Given the description of an element on the screen output the (x, y) to click on. 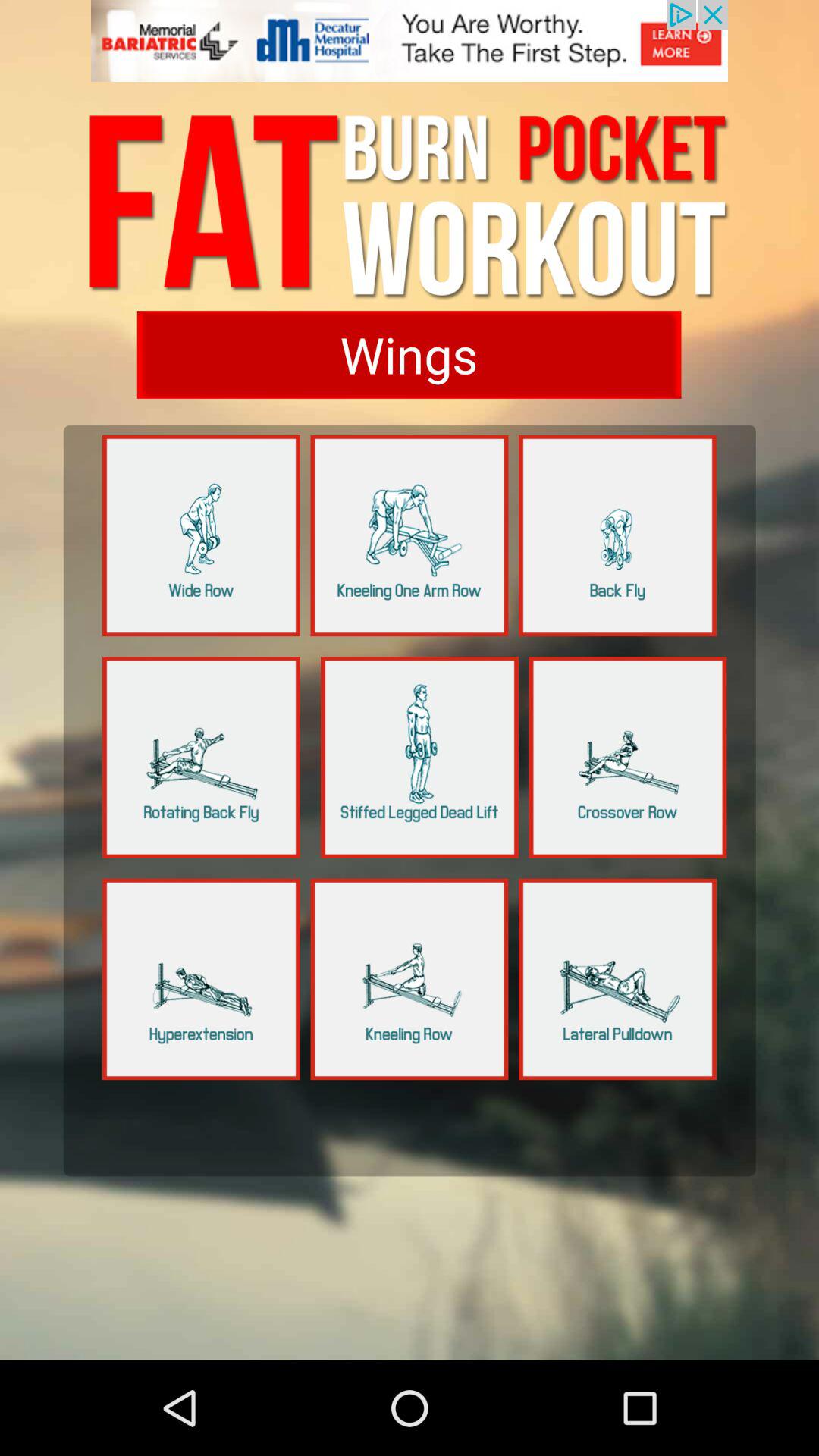
rotating back option (201, 757)
